Given the description of an element on the screen output the (x, y) to click on. 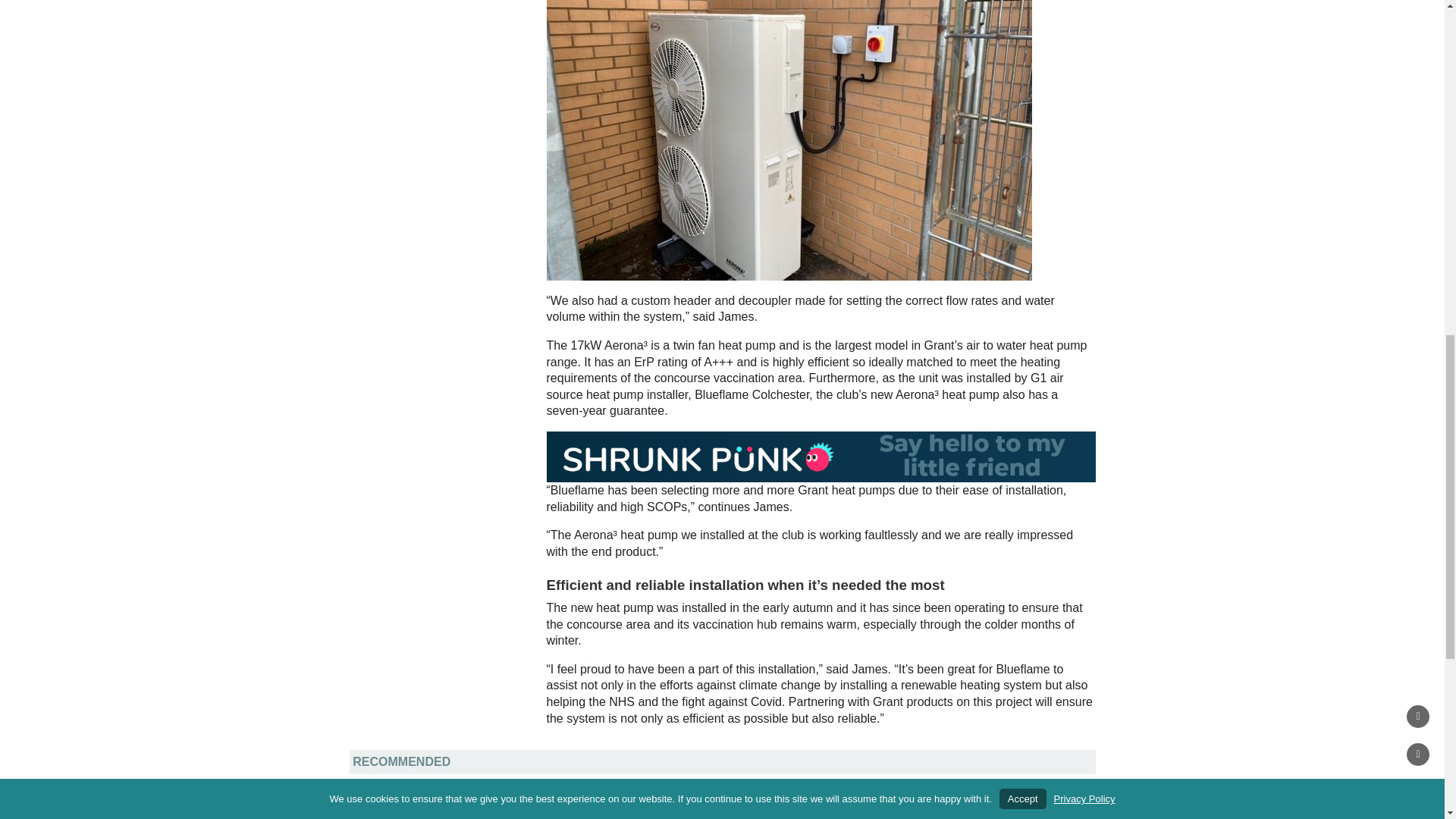
Heat pumps for schools  (1022, 808)
Adoption of heat pumps in newly built homes (523, 808)
Getting started with ground source heat pumps (777, 808)
Adoption of heat pumps in newly built homes (523, 808)
Getting started with ground source heat pumps (777, 808)
